Given the description of an element on the screen output the (x, y) to click on. 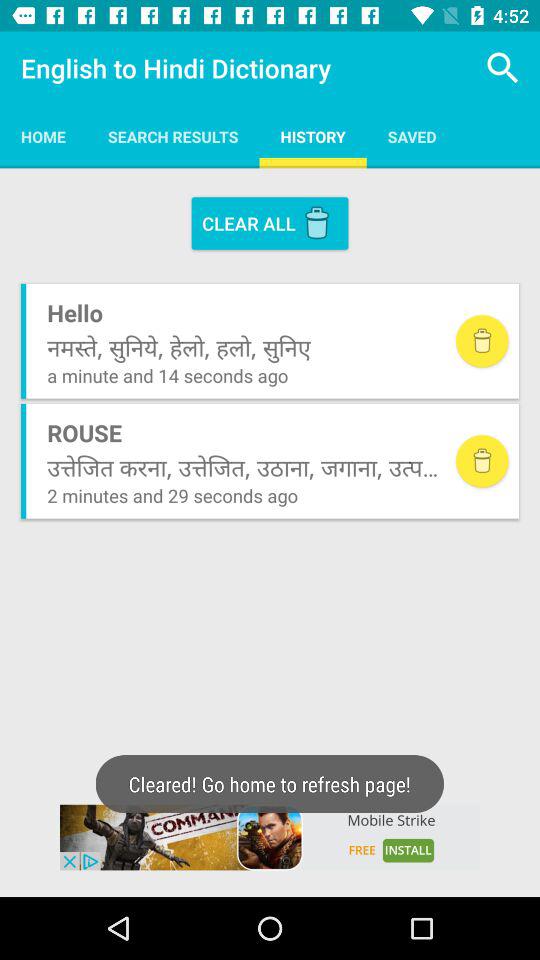
delete a definition (482, 461)
